Given the description of an element on the screen output the (x, y) to click on. 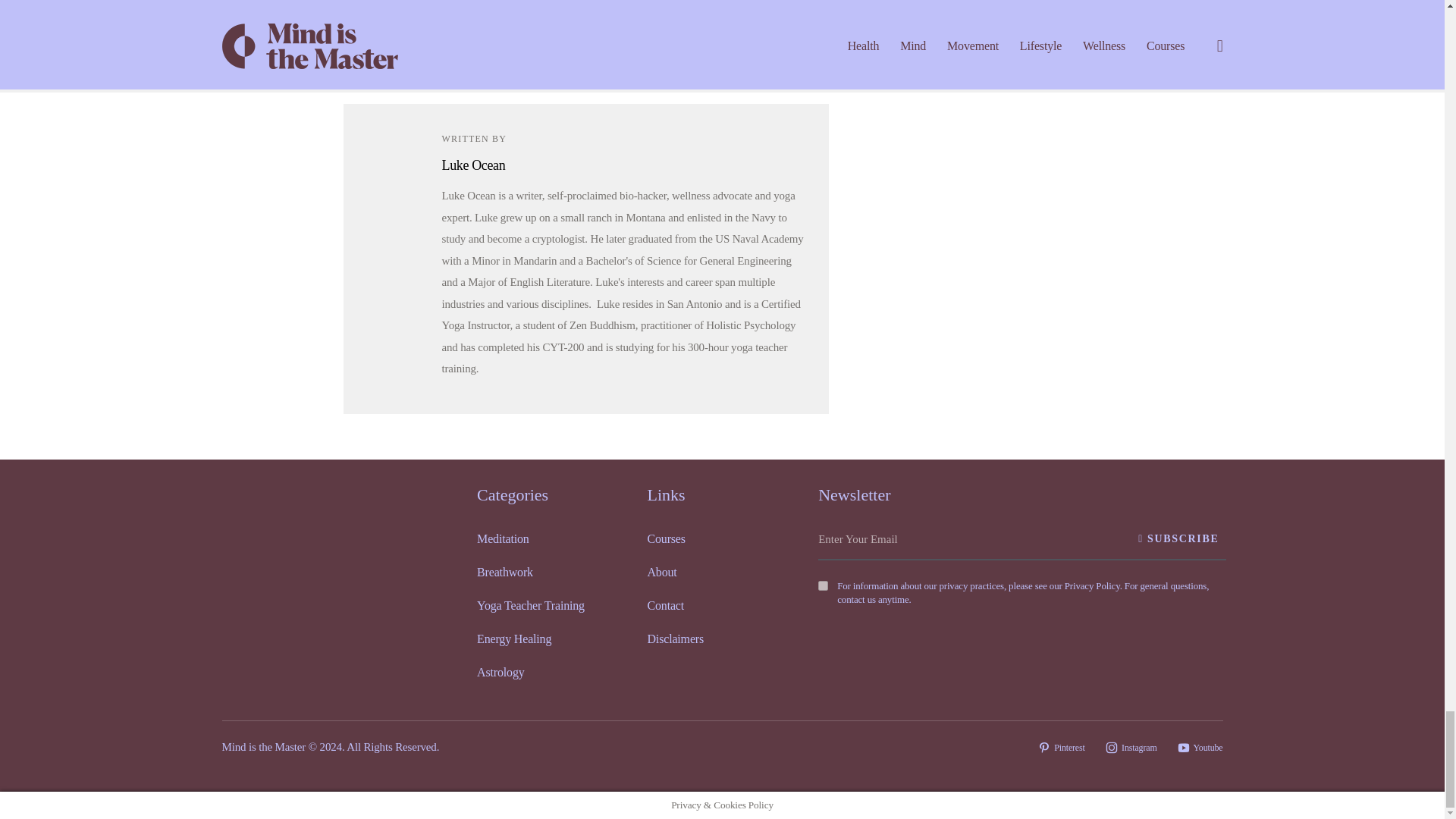
on (823, 585)
